Given the description of an element on the screen output the (x, y) to click on. 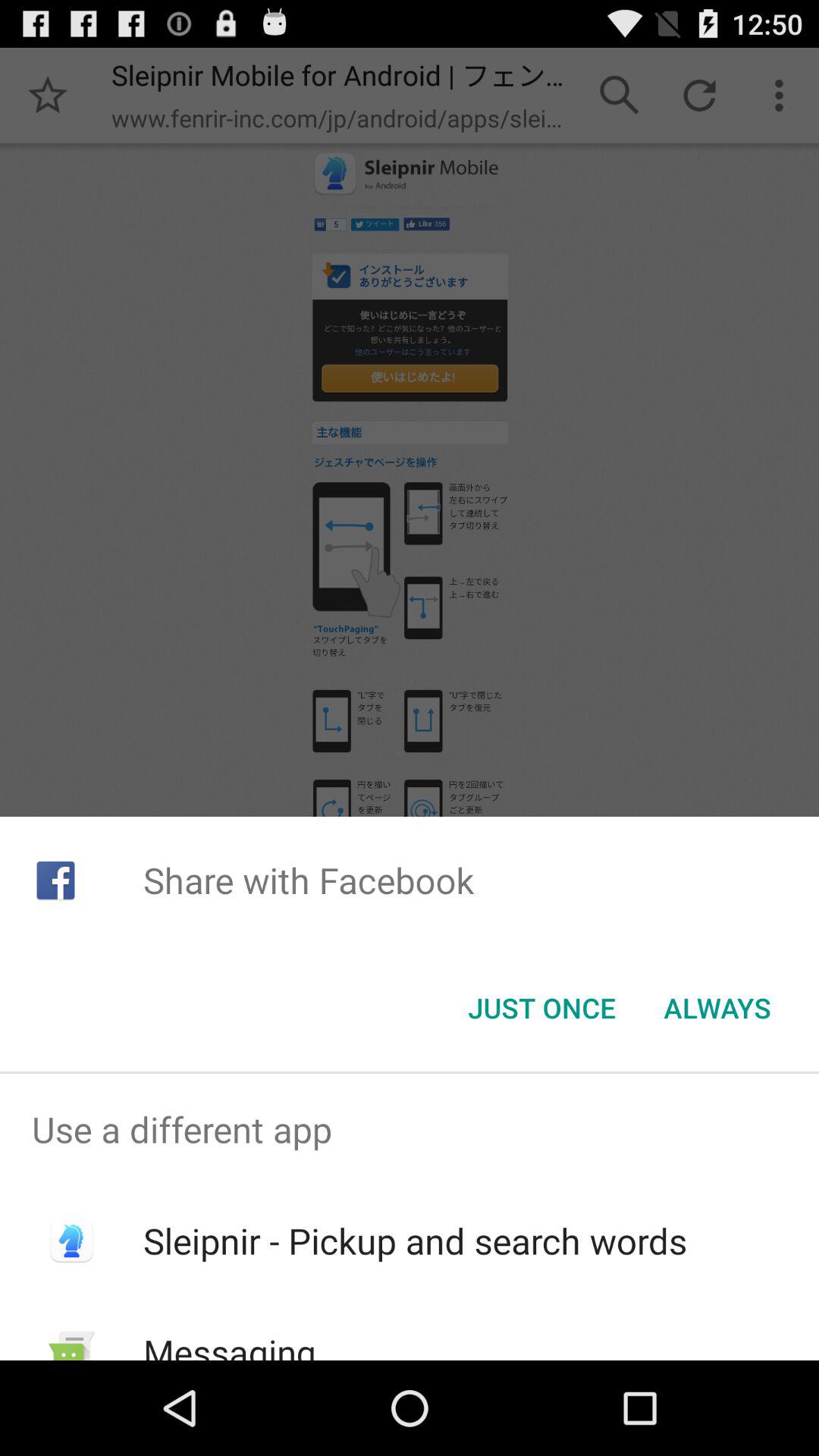
launch icon below share with facebook item (541, 1007)
